Given the description of an element on the screen output the (x, y) to click on. 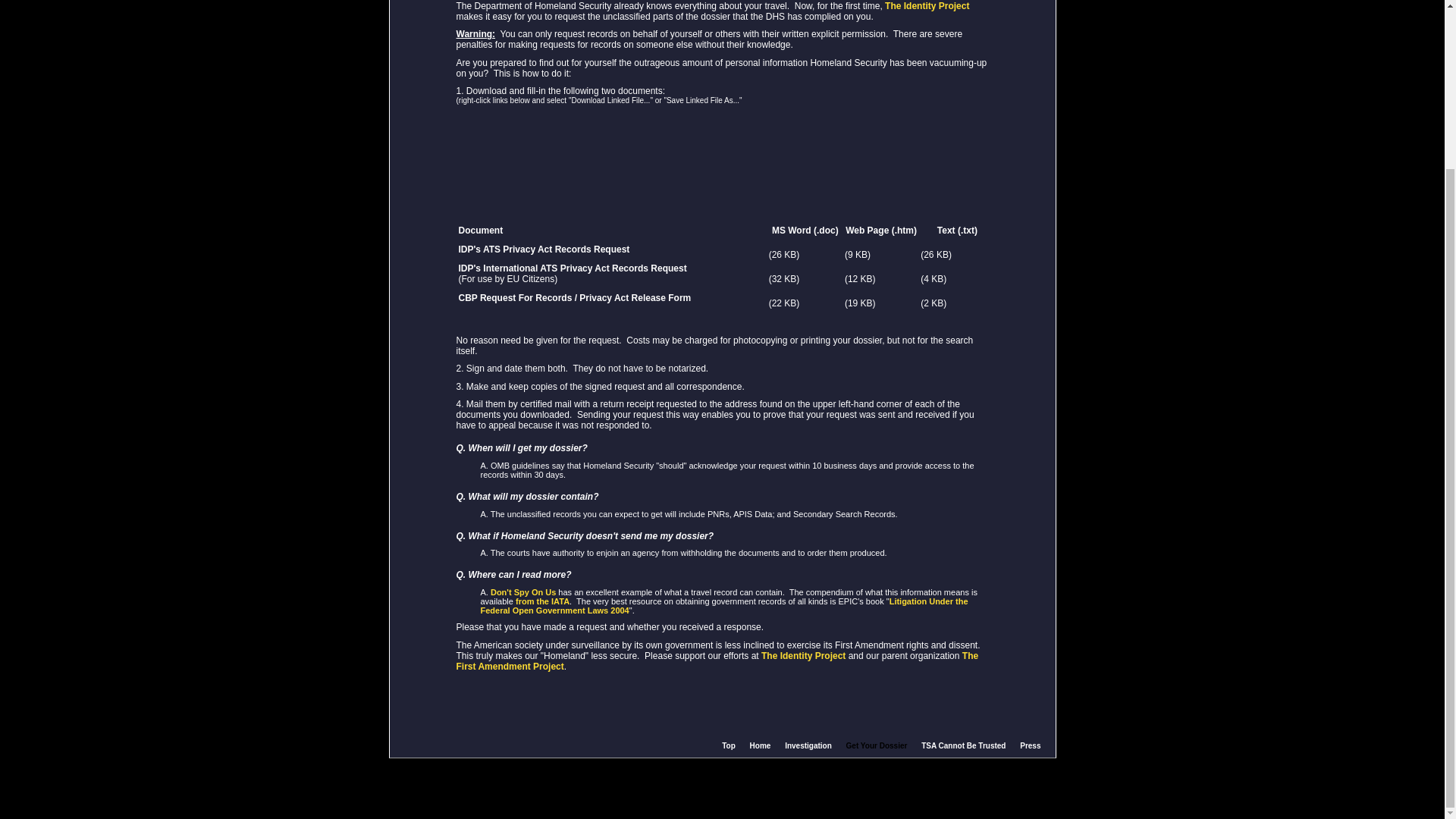
Get Your Dossier (876, 746)
Top (728, 746)
Litigation Under the Federal Open Government Laws 2004 (724, 606)
The Identity Project (803, 655)
The First Amendment Project (717, 660)
Don't Spy On Us (523, 592)
Press (1030, 746)
Home (760, 746)
TSA Cannot Be Trusted (963, 746)
Investigation (807, 746)
